Given the description of an element on the screen output the (x, y) to click on. 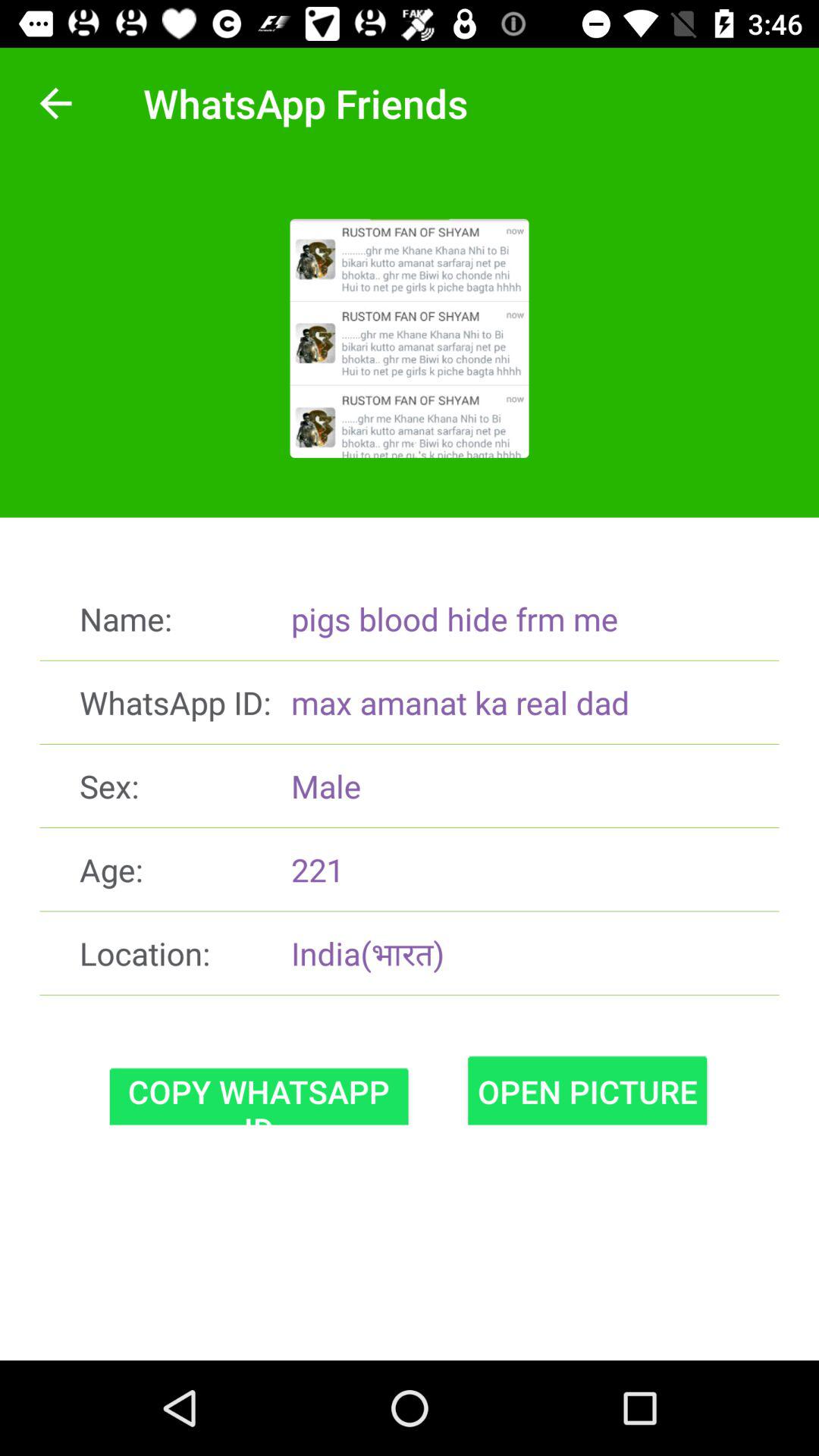
open the item at the top left corner (55, 103)
